Given the description of an element on the screen output the (x, y) to click on. 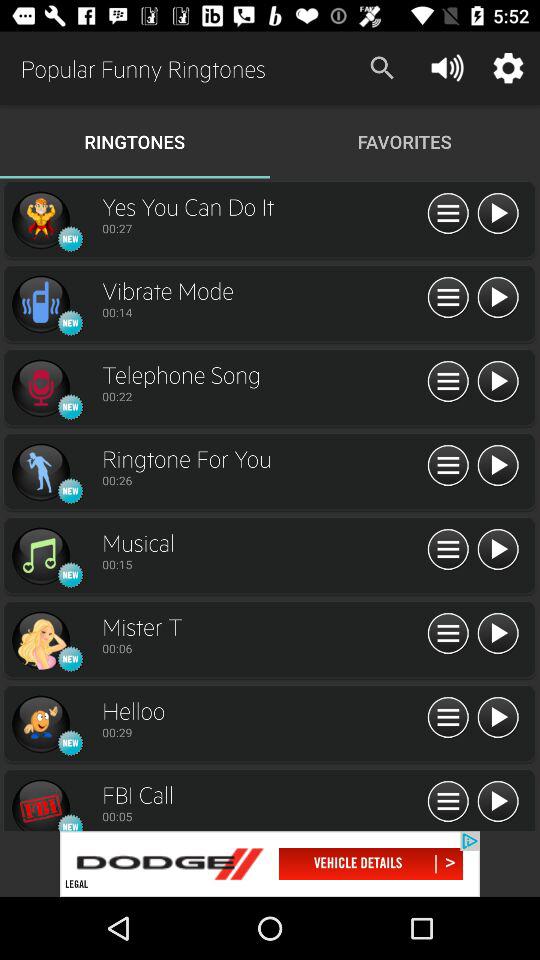
open the profile page of ringtone uploader (40, 304)
